Given the description of an element on the screen output the (x, y) to click on. 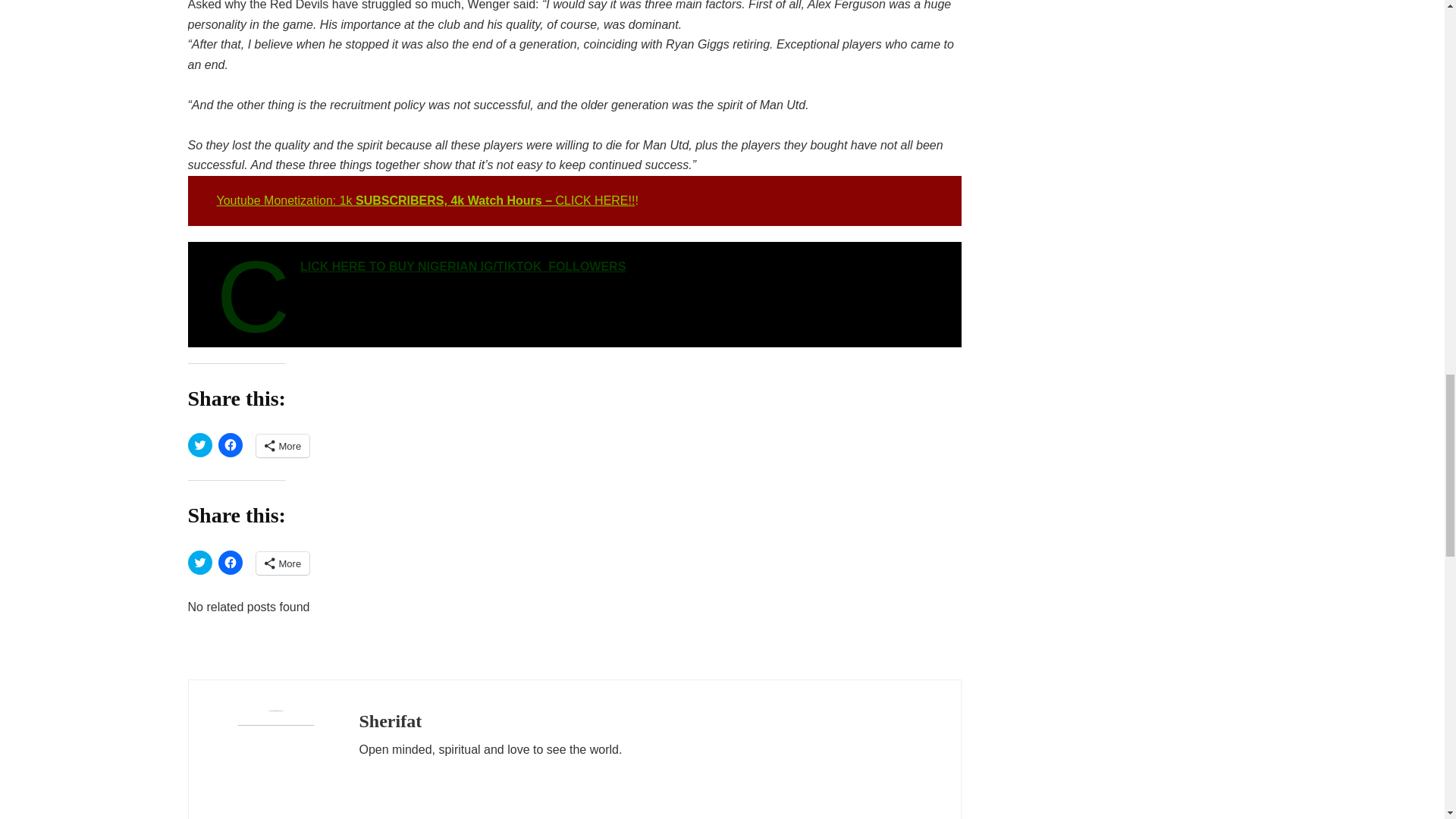
Click to share on Facebook (230, 445)
Click to share on Twitter (199, 445)
